Given the description of an element on the screen output the (x, y) to click on. 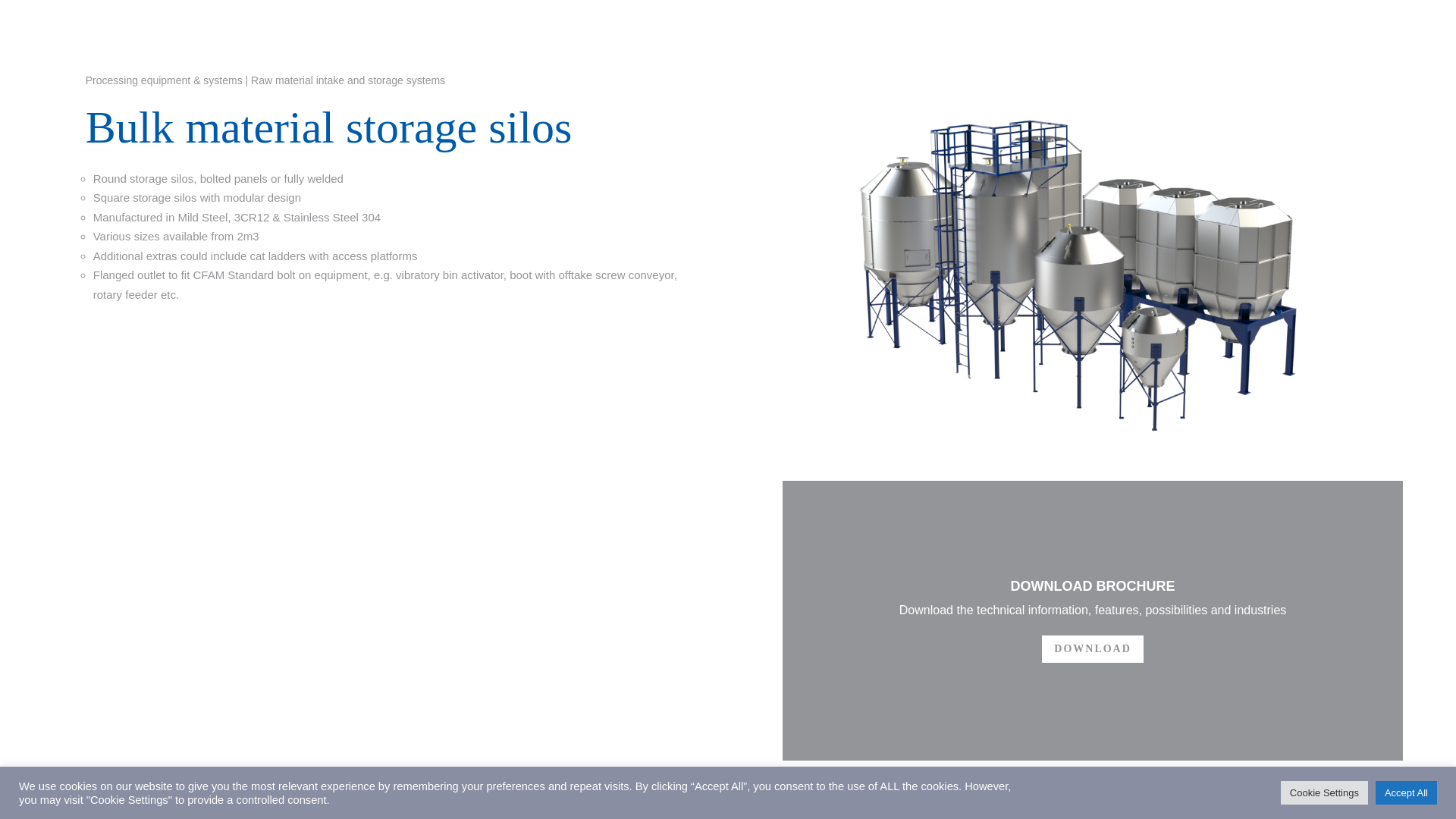
DOWNLOAD (1092, 648)
Cookie Settings (1324, 792)
Accept All (1406, 792)
